Given the description of an element on the screen output the (x, y) to click on. 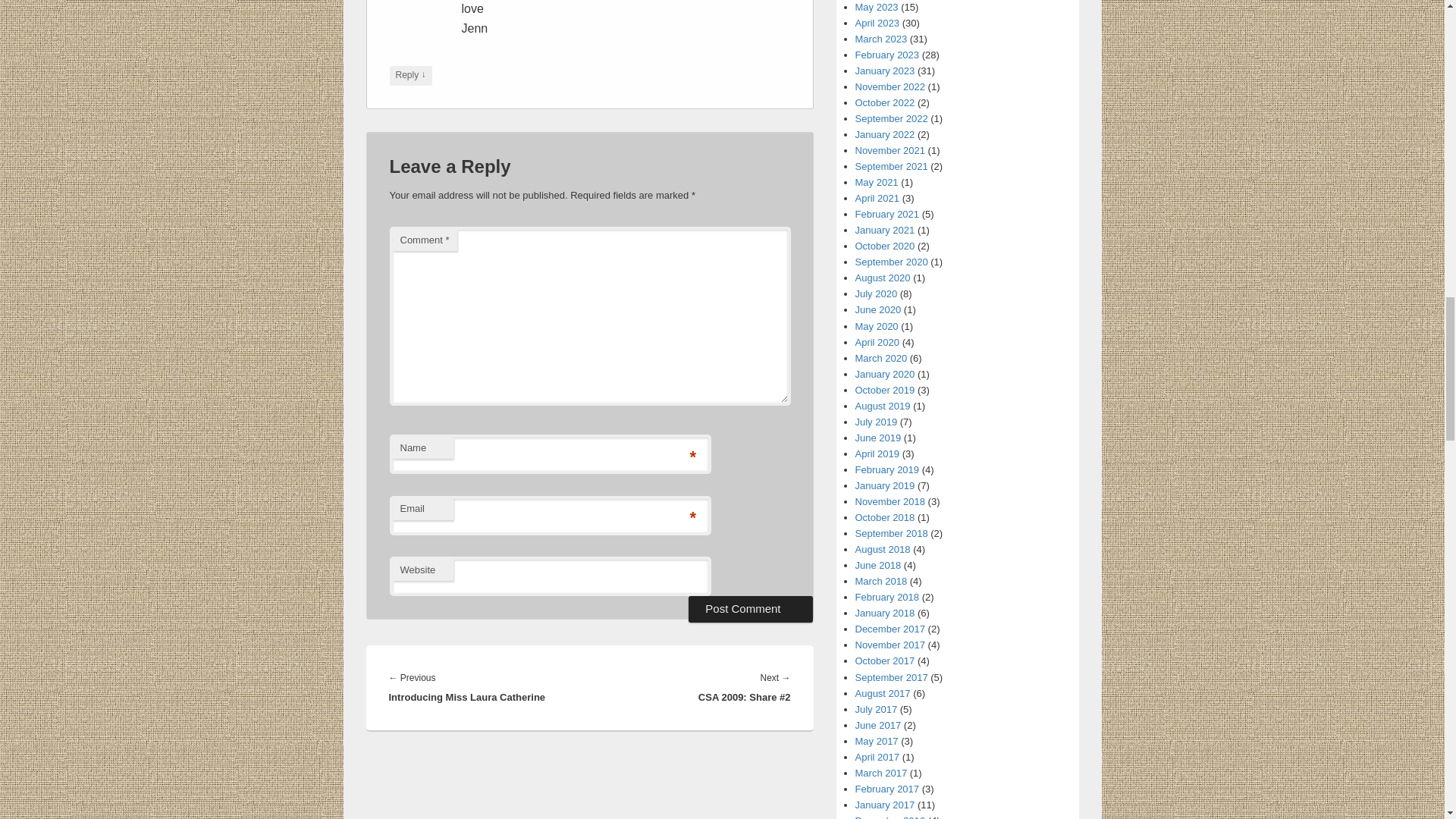
Post Comment (750, 608)
Post Comment (750, 608)
